Given the description of an element on the screen output the (x, y) to click on. 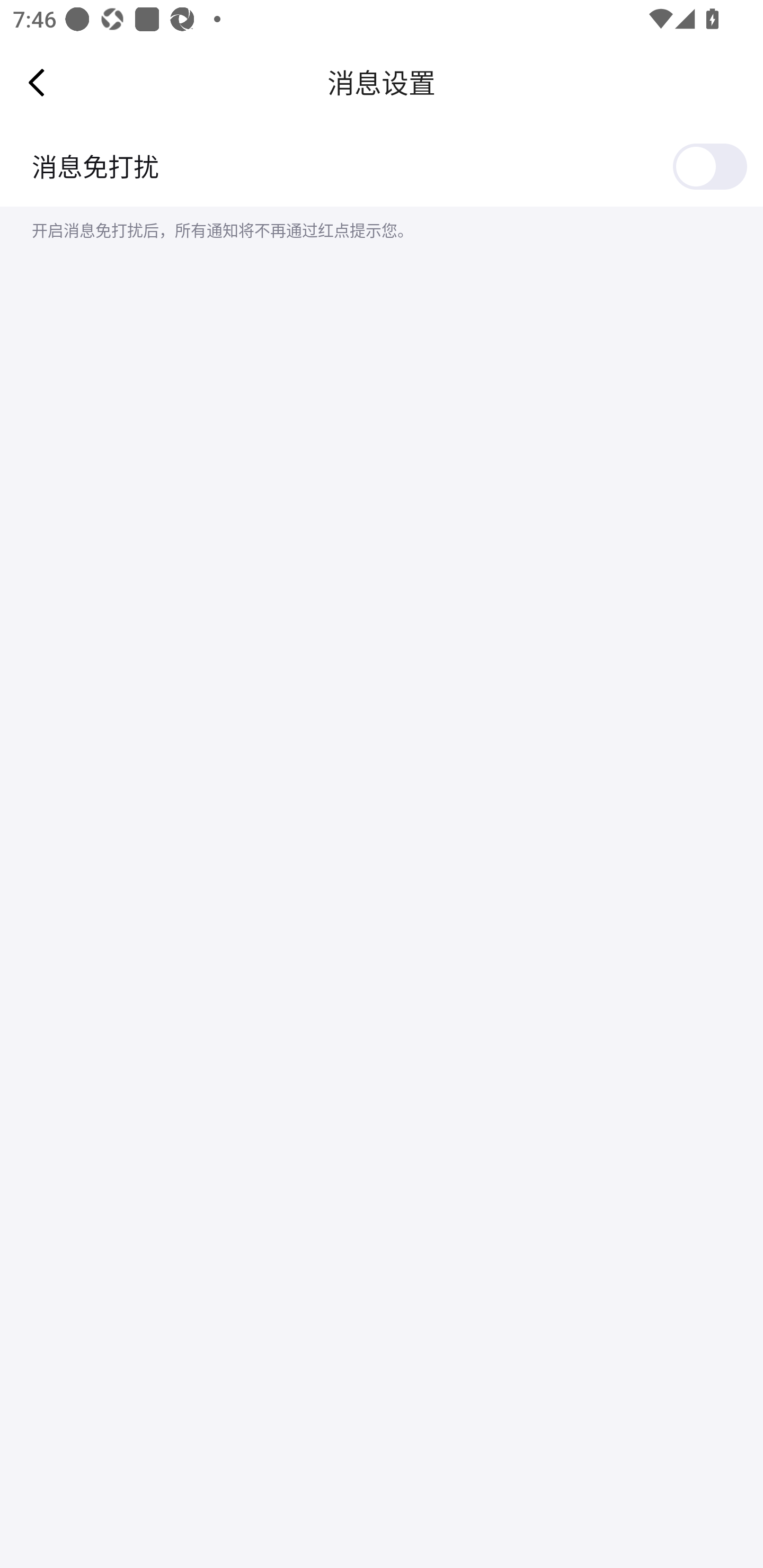
Navigate up (36, 82)
消息免打扰 (381, 166)
